Given the description of an element on the screen output the (x, y) to click on. 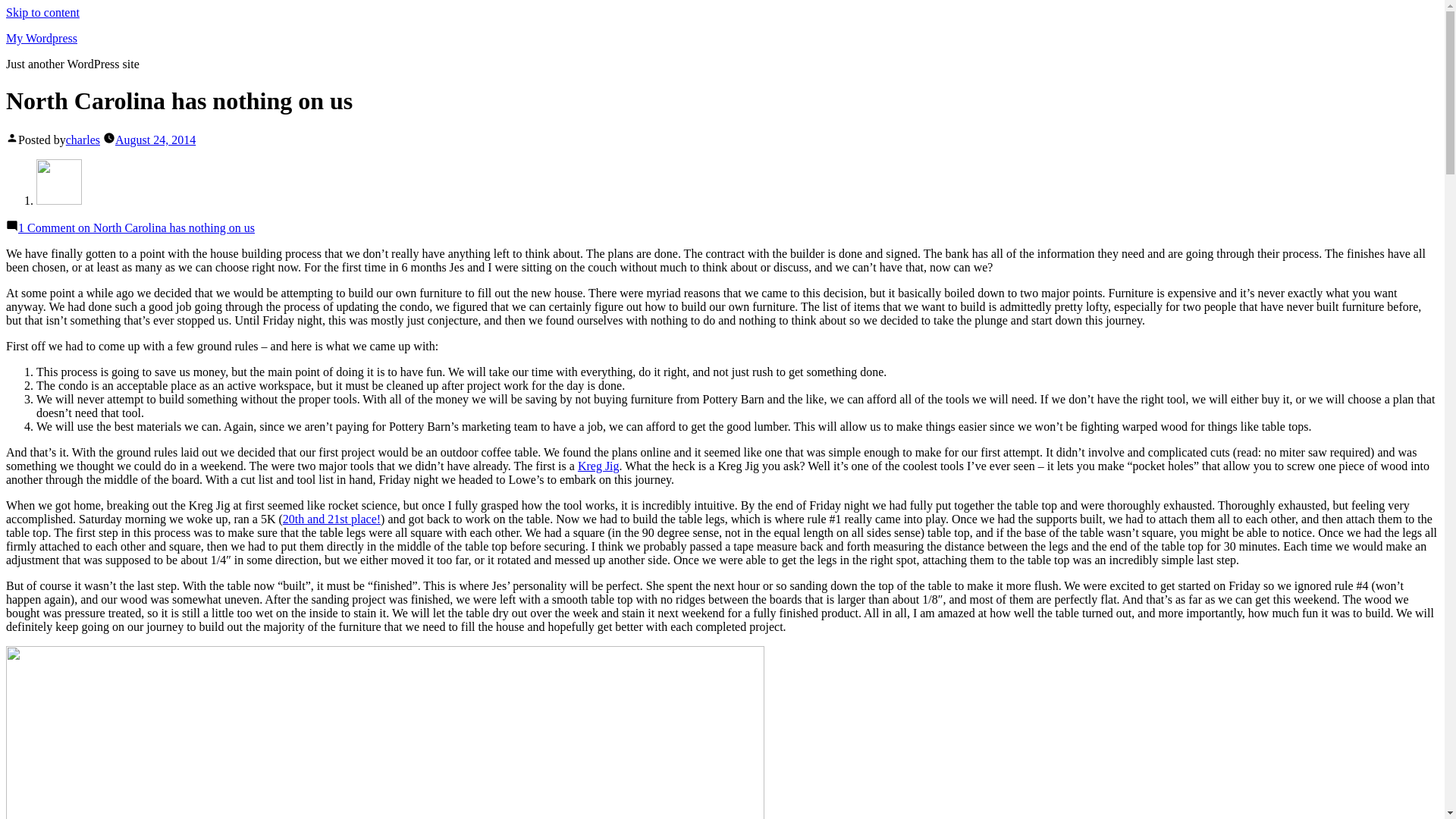
My Wordpress (41, 38)
Skip to content (42, 11)
20th and 21st place! (331, 518)
1 Comment on North Carolina has nothing on us (135, 227)
Kreg Jig (599, 465)
August 24, 2014 (155, 139)
charles (82, 139)
